Given the description of an element on the screen output the (x, y) to click on. 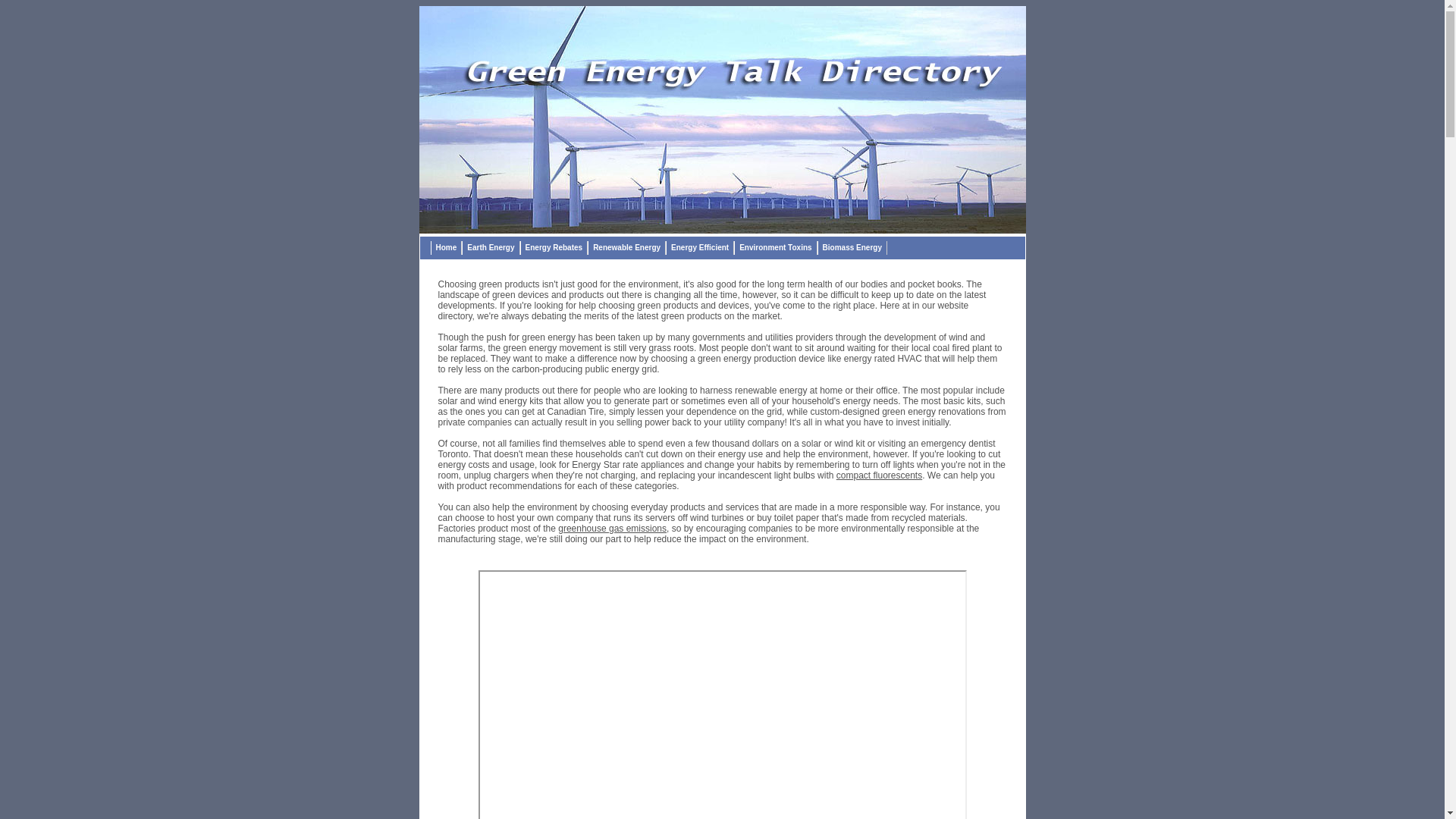
compact fluorescents Element type: text (879, 475)
Energy Efficient Element type: text (699, 247)
Earth Energy Element type: text (490, 247)
Home Element type: text (446, 247)
Environment Toxins Element type: text (775, 247)
Renewable Energy Element type: text (626, 247)
Biomass Energy Element type: text (852, 247)
greenhouse gas emissions Element type: text (612, 528)
Energy Rebates Element type: text (554, 247)
